Given the description of an element on the screen output the (x, y) to click on. 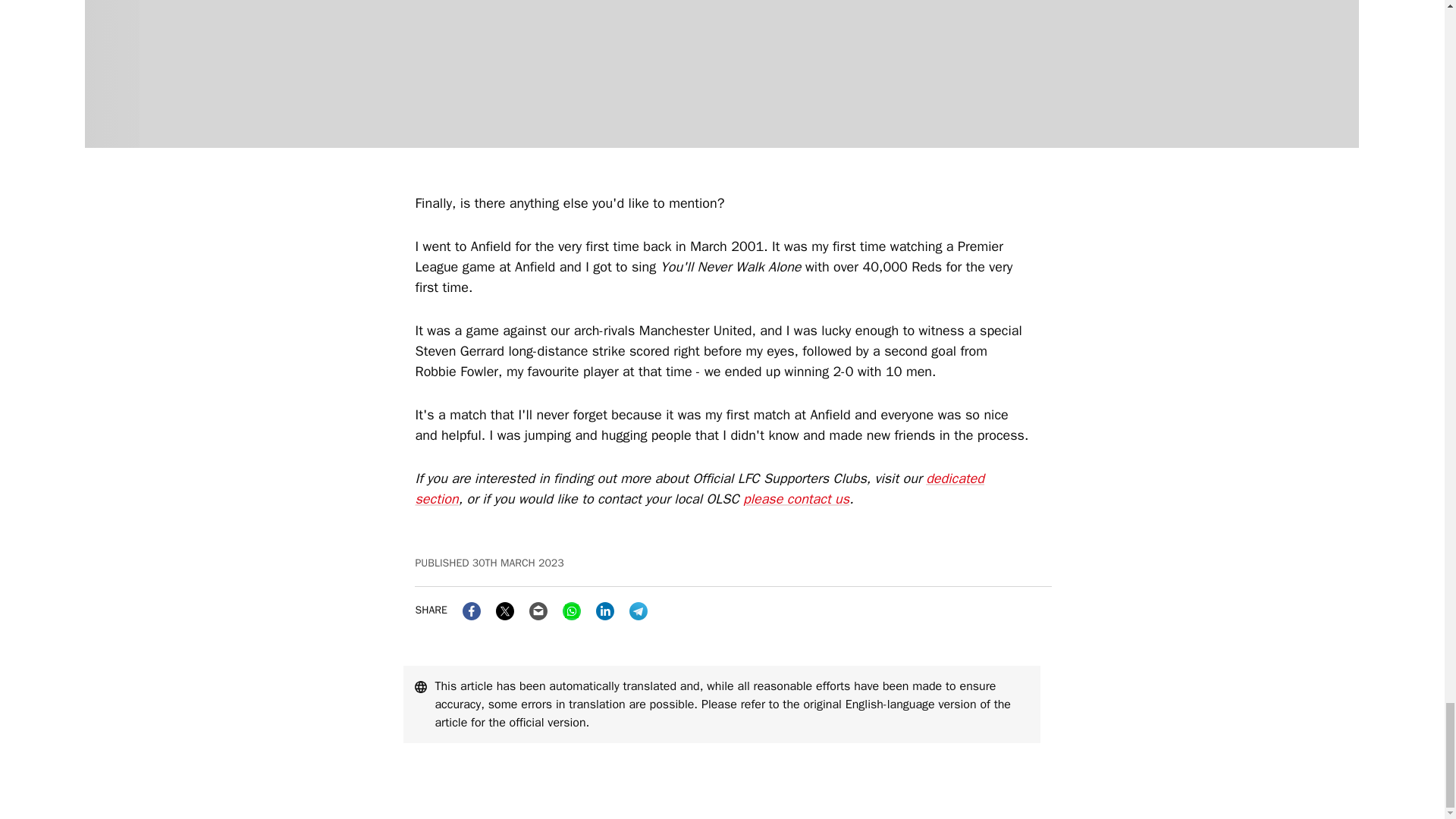
LinkedIn (604, 610)
dedicated section (699, 488)
please contact us (795, 498)
Twitter (504, 610)
Telegram (637, 610)
WhatsApp (571, 610)
Facebook (471, 610)
Email (538, 610)
